Given the description of an element on the screen output the (x, y) to click on. 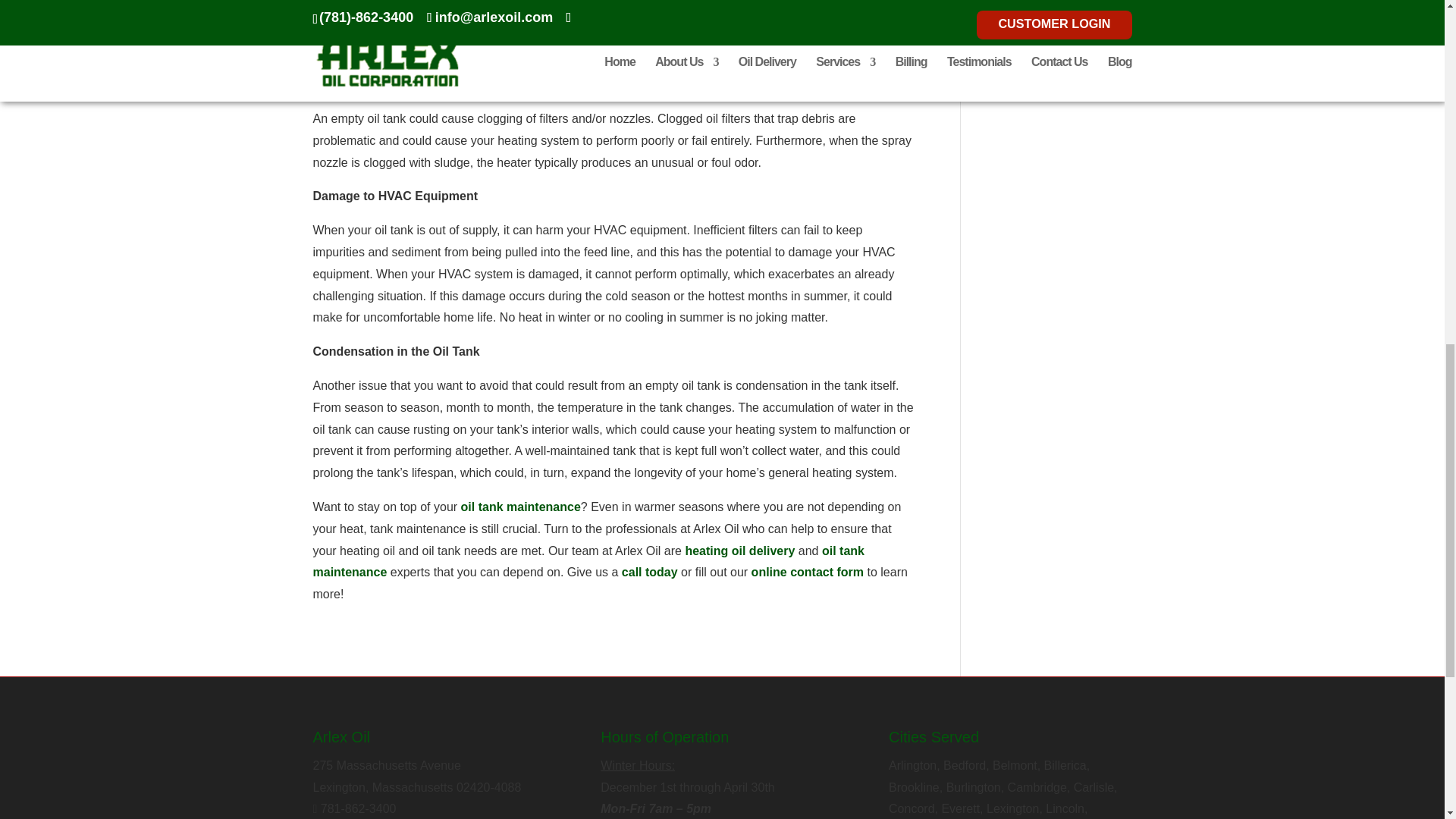
online contact form (807, 571)
heating oil delivery (739, 550)
oil tank maintenance (520, 506)
call today (649, 571)
oil tank maintenance (588, 561)
